Given the description of an element on the screen output the (x, y) to click on. 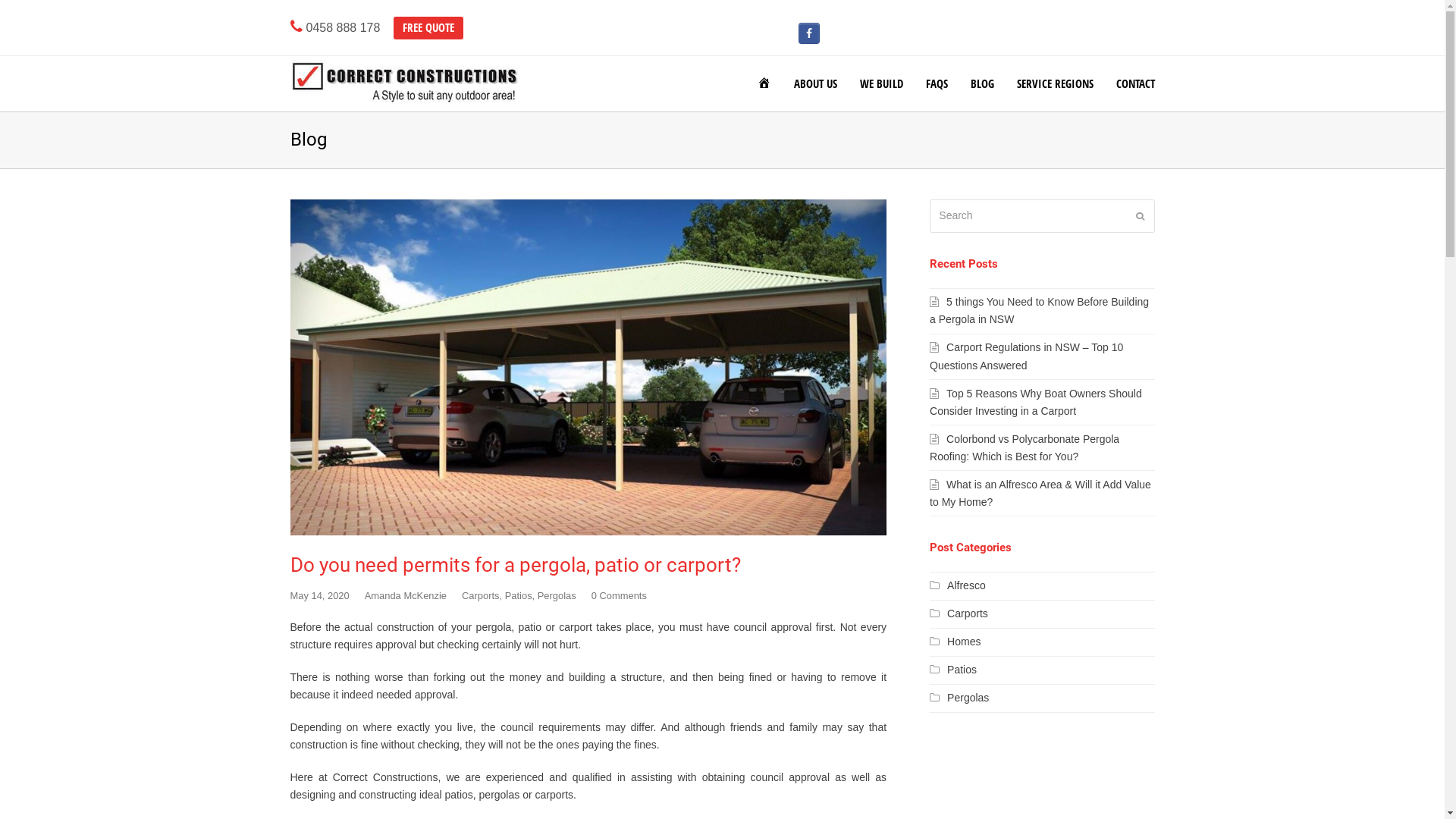
Pergolas Element type: text (556, 595)
Alfresco Element type: text (957, 585)
Submit Element type: text (1139, 215)
Patios Element type: text (952, 669)
Facebook Element type: hover (808, 32)
Patios Element type: text (518, 595)
WE BUILD Element type: text (880, 84)
Carports Element type: text (958, 613)
FREE QUOTE Element type: text (428, 28)
0 Comments Element type: text (618, 595)
What is an Alfresco Area & Will it Add Value to My Home? Element type: text (1040, 493)
FAQS Element type: text (936, 84)
Homes Element type: text (954, 641)
Pergolas Element type: text (958, 697)
CONTACT Element type: text (1134, 84)
ABOUT US Element type: text (815, 84)
BLOG Element type: text (981, 84)
Amanda McKenzie Element type: text (405, 595)
Carports Element type: text (480, 595)
0458 888 178 Element type: text (335, 28)
Correct Constructions Element type: hover (403, 81)
5 things You Need to Know Before Building a Pergola in NSW Element type: text (1038, 310)
SERVICE REGIONS Element type: text (1054, 84)
